Given the description of an element on the screen output the (x, y) to click on. 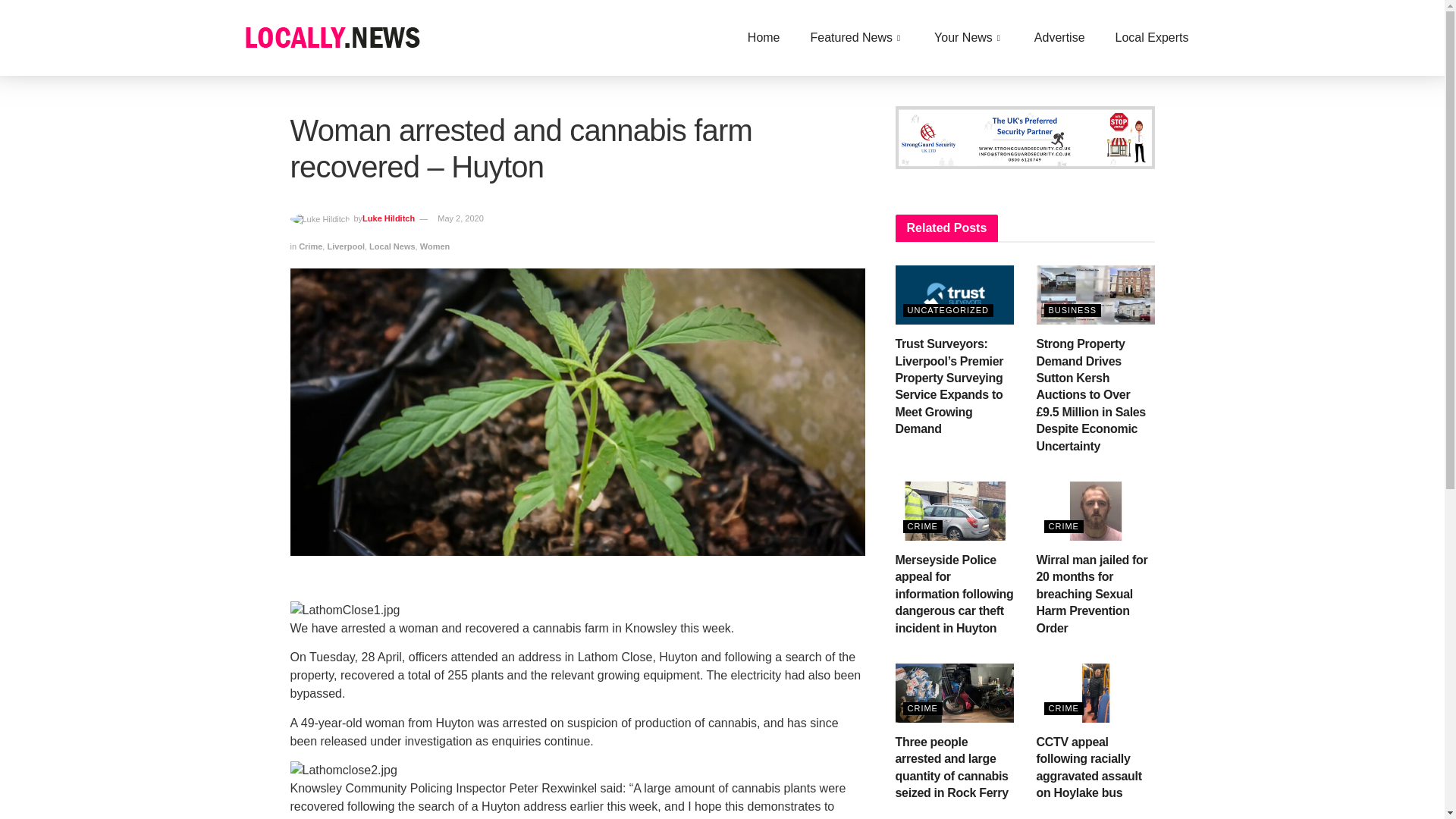
Advertise (1059, 37)
Featured News (857, 37)
Local Experts (1152, 37)
Home (763, 37)
Your News (968, 37)
